Given the description of an element on the screen output the (x, y) to click on. 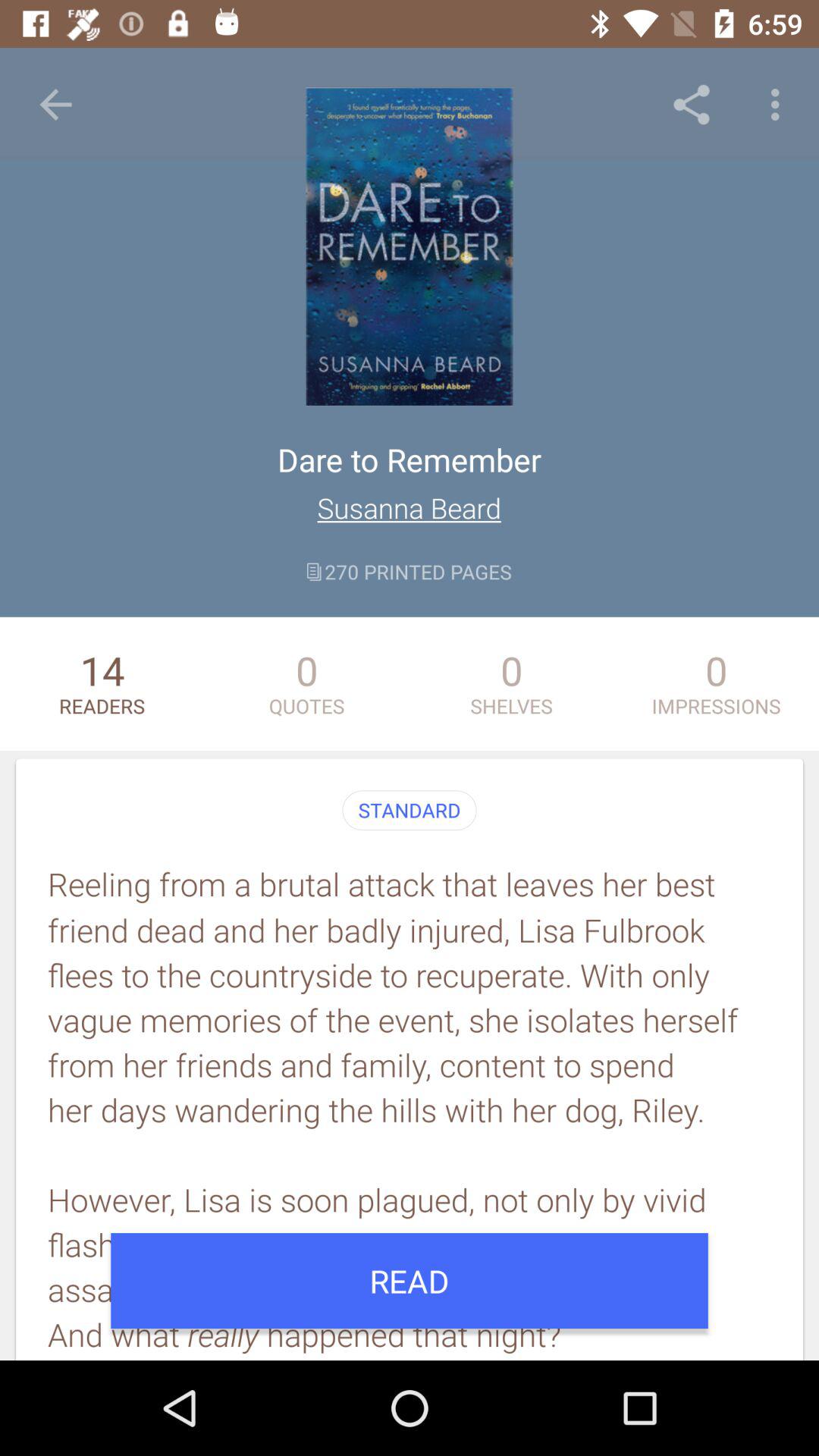
choose the item above the dare to remember icon (55, 104)
